Given the description of an element on the screen output the (x, y) to click on. 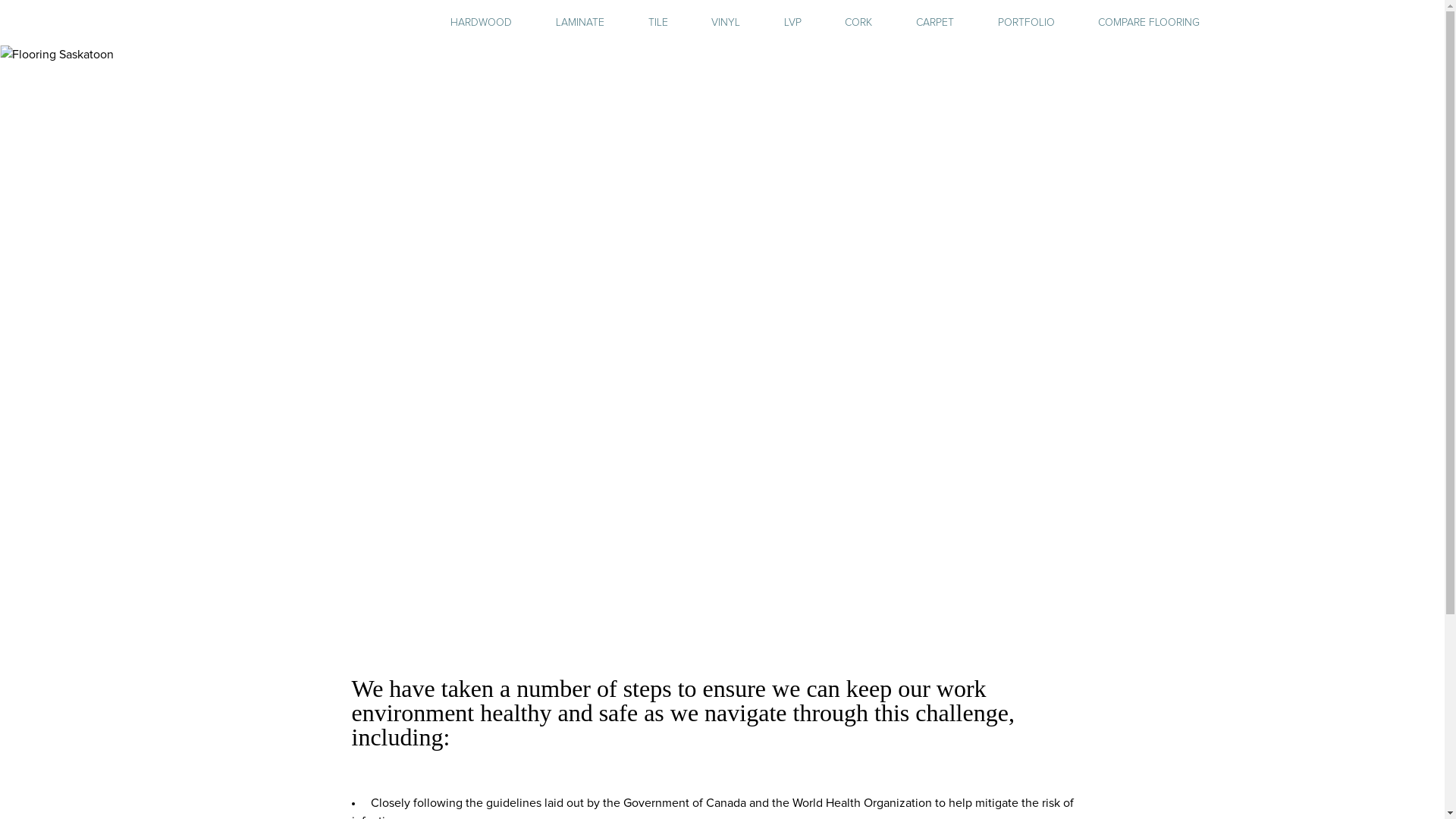
instagram Element type: text (1257, 24)
ABOUT Element type: text (779, 80)
CARPET Element type: text (934, 22)
CONTACT Element type: text (1273, 80)
PORTFOLIO Element type: text (1025, 22)
CORK Element type: text (858, 22)
HARDWOOD Element type: text (480, 22)
RESIDENTIAL SERVICES Element type: text (883, 80)
LVP Element type: text (792, 22)
Home Element type: text (252, 96)
HOME Element type: text (721, 80)
TILE Element type: text (658, 22)
INSURANCE CLAIMS Element type: text (1171, 80)
VINYL Element type: text (725, 22)
linkedIn Element type: text (1283, 24)
COMMERCIAL SERVICES Element type: text (1032, 80)
LAMINATE Element type: text (579, 22)
COMPARE FLOORING Element type: text (1148, 22)
facebook Element type: text (1230, 24)
